Given the description of an element on the screen output the (x, y) to click on. 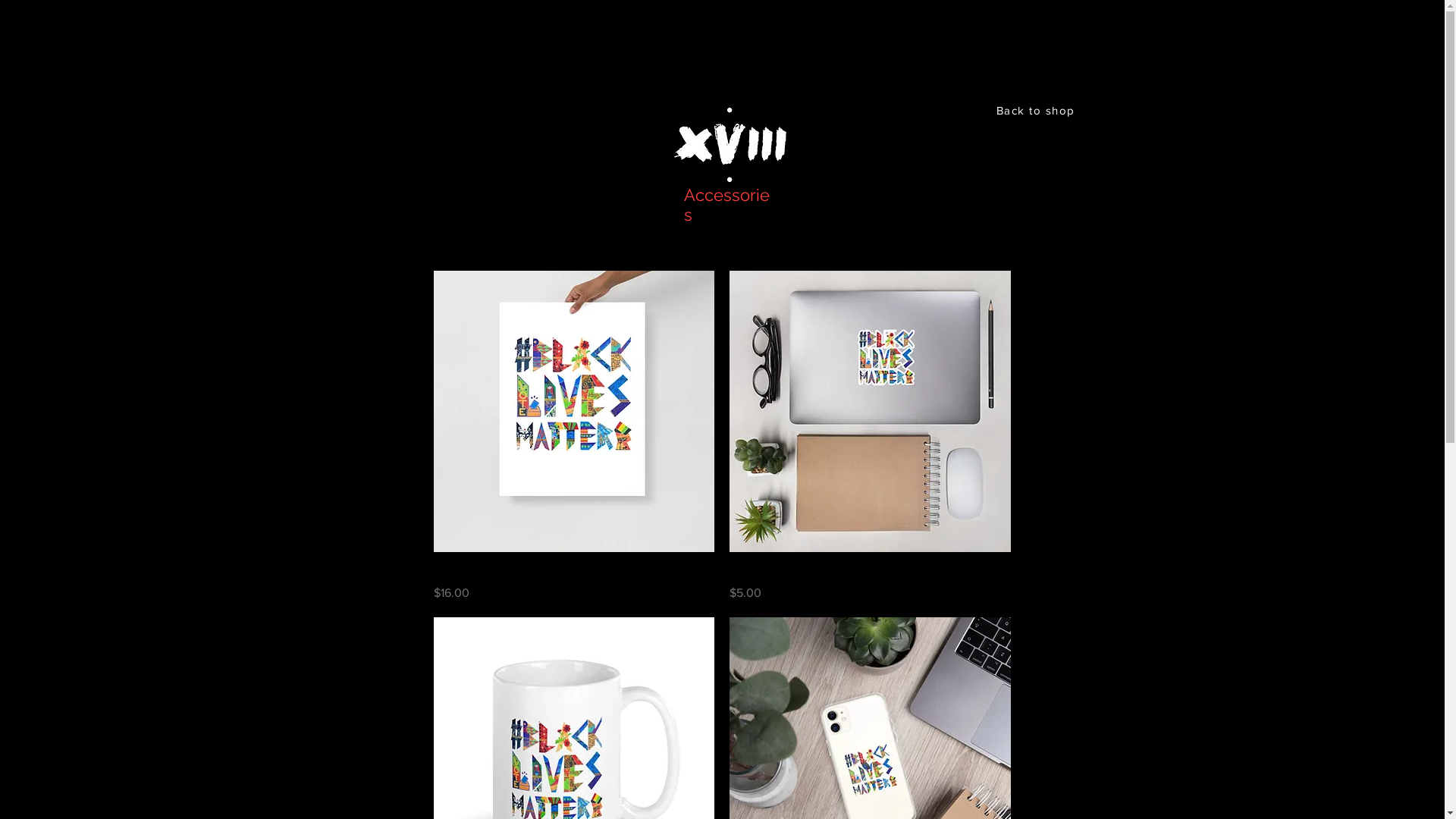
Back to shop Element type: text (1036, 109)
The Eighteen Black Lives Matter Poster
Price
$16.00 Element type: text (574, 583)
Bubble-free stickers EIGHTEEN BLM INDY
Price
$5.00 Element type: text (869, 583)
